Given the description of an element on the screen output the (x, y) to click on. 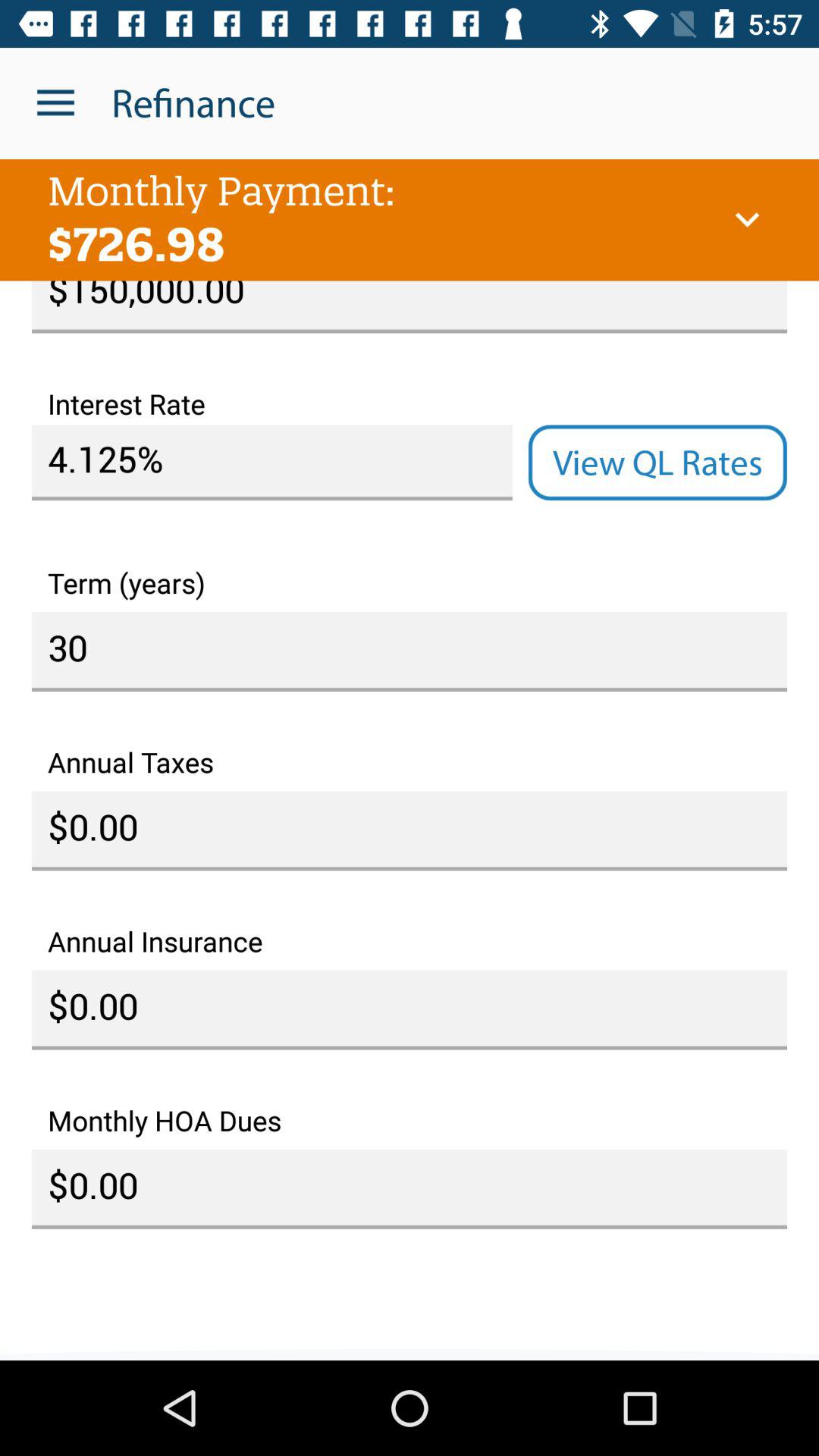
choose 30 icon (409, 651)
